Given the description of an element on the screen output the (x, y) to click on. 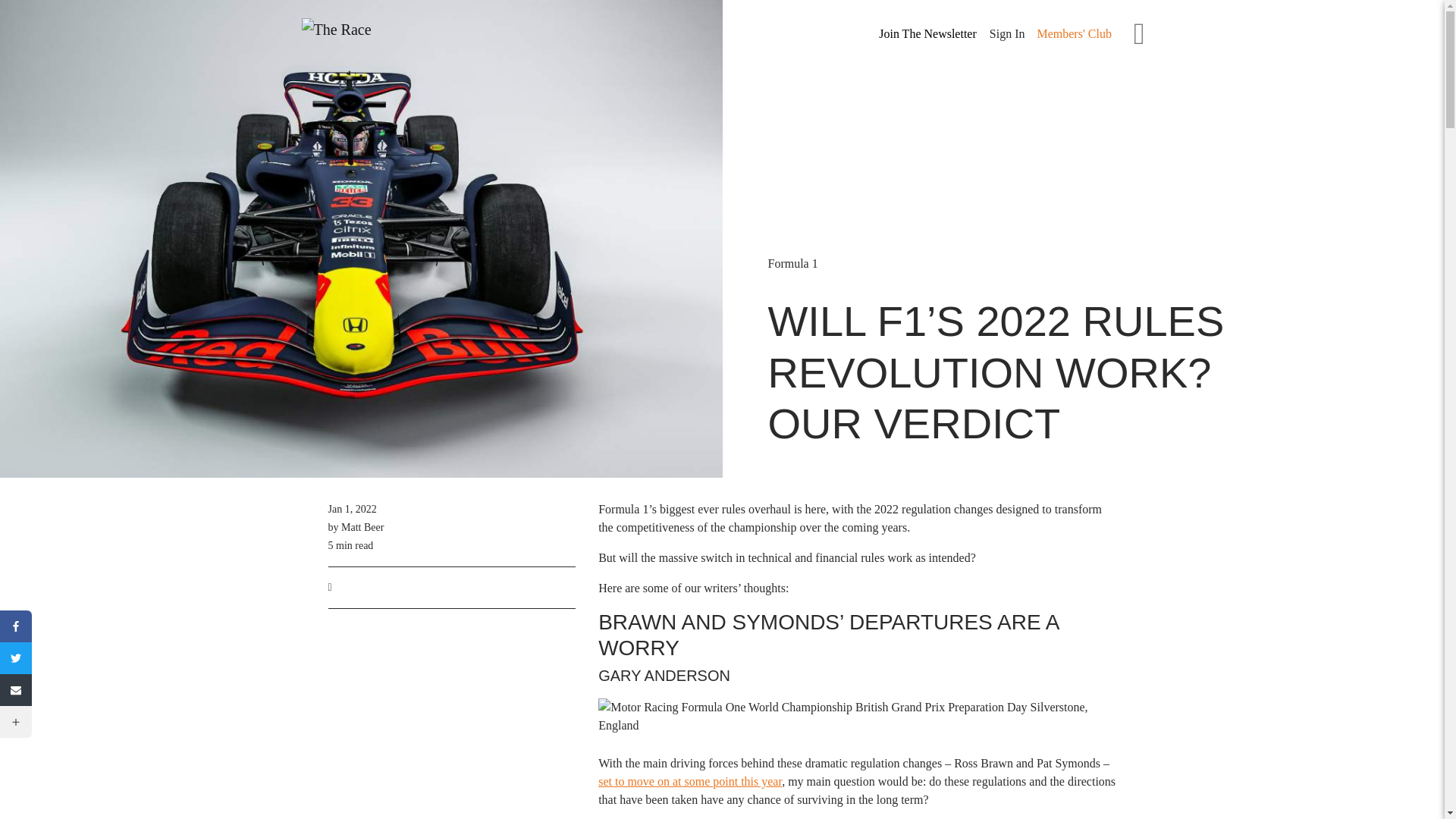
Sign In (1007, 33)
Members' Club (1073, 33)
set to move on at some point this year (689, 780)
Join The Newsletter (926, 34)
